Given the description of an element on the screen output the (x, y) to click on. 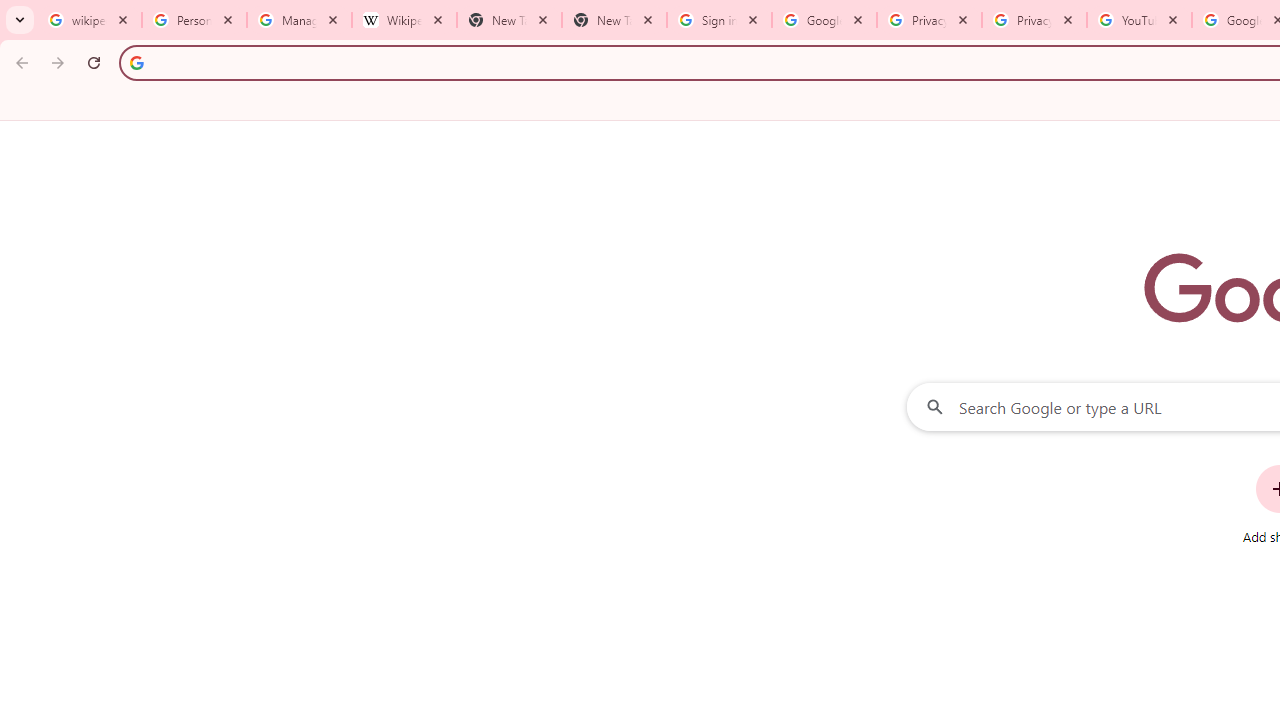
Wikipedia:Edit requests - Wikipedia (404, 20)
Google Drive: Sign-in (823, 20)
